Given the description of an element on the screen output the (x, y) to click on. 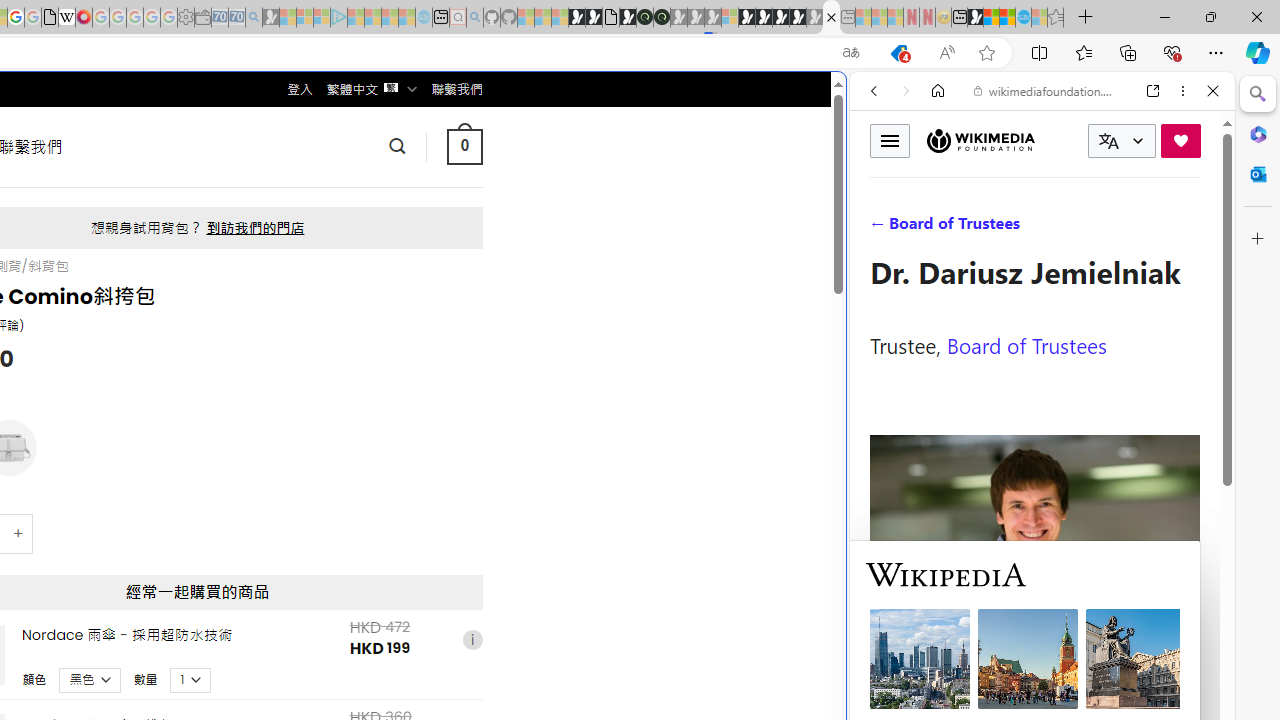
Board of Trustees (1026, 344)
Class: upsell-v2-product-upsell-variable-product-qty-select (191, 679)
